Given the description of an element on the screen output the (x, y) to click on. 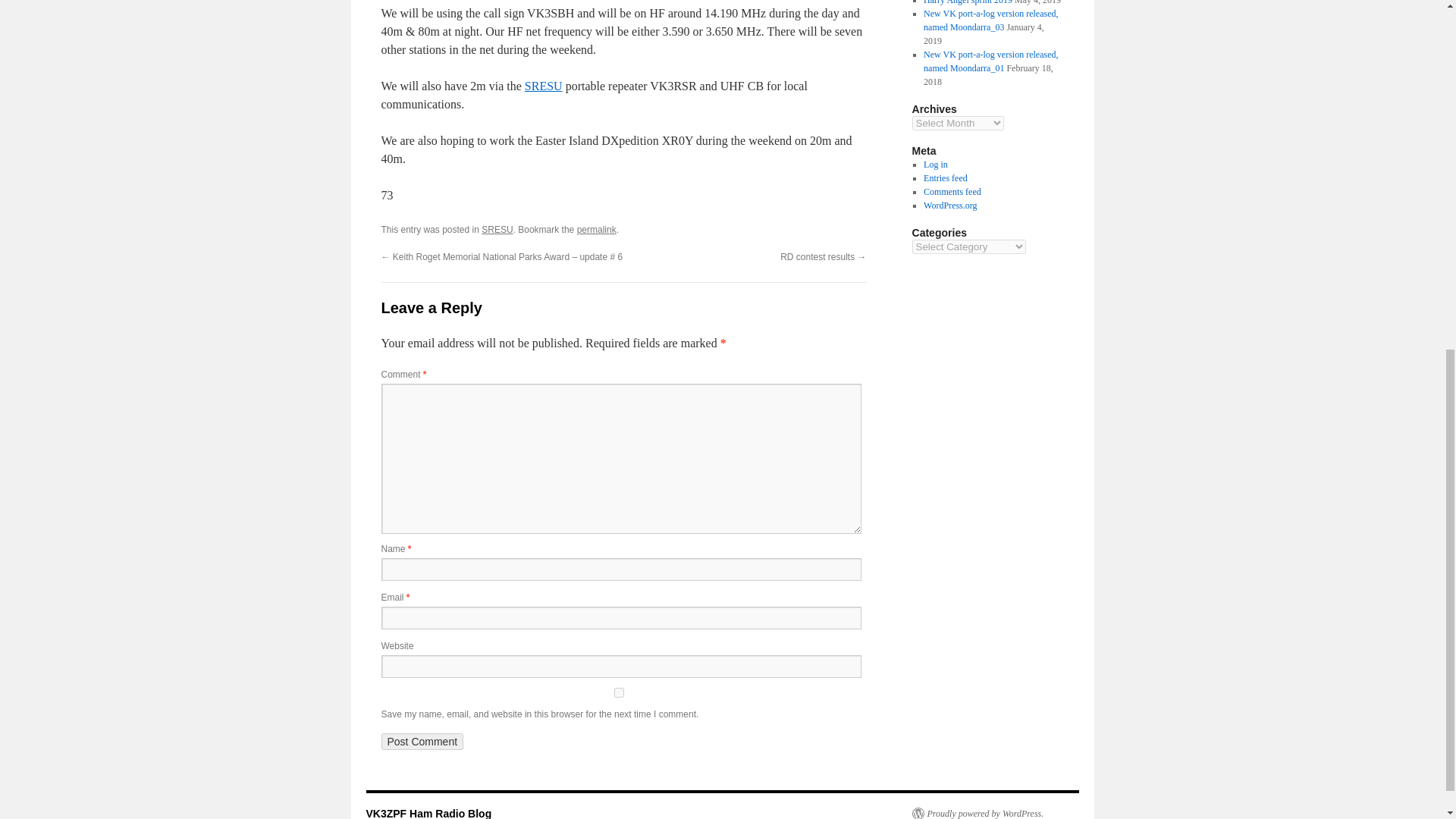
Permalink to Scouthike 2009 (595, 229)
Comments feed (952, 191)
Post Comment (421, 741)
yes (618, 692)
SRESU (543, 85)
permalink (595, 229)
Log in (935, 163)
Post Comment (421, 741)
Entries feed (945, 177)
SRESU (496, 229)
Harry Angel sprint 2019 (967, 2)
WordPress.org (949, 204)
